Given the description of an element on the screen output the (x, y) to click on. 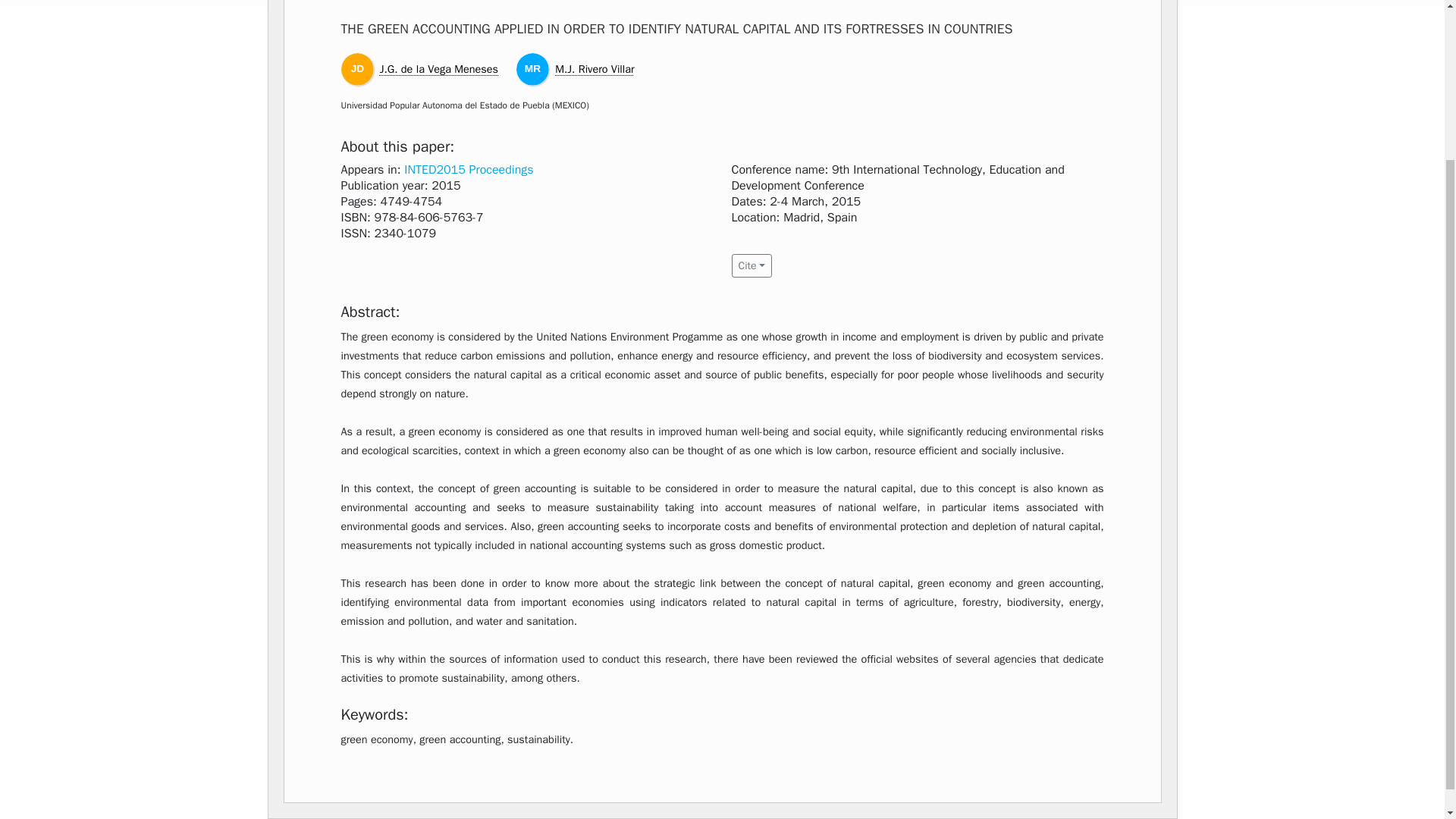
Cite (750, 265)
J.G. de la Vega Meneses (438, 69)
M.J. Rivero Villar (593, 69)
INTED2015 Proceedings (468, 169)
